Given the description of an element on the screen output the (x, y) to click on. 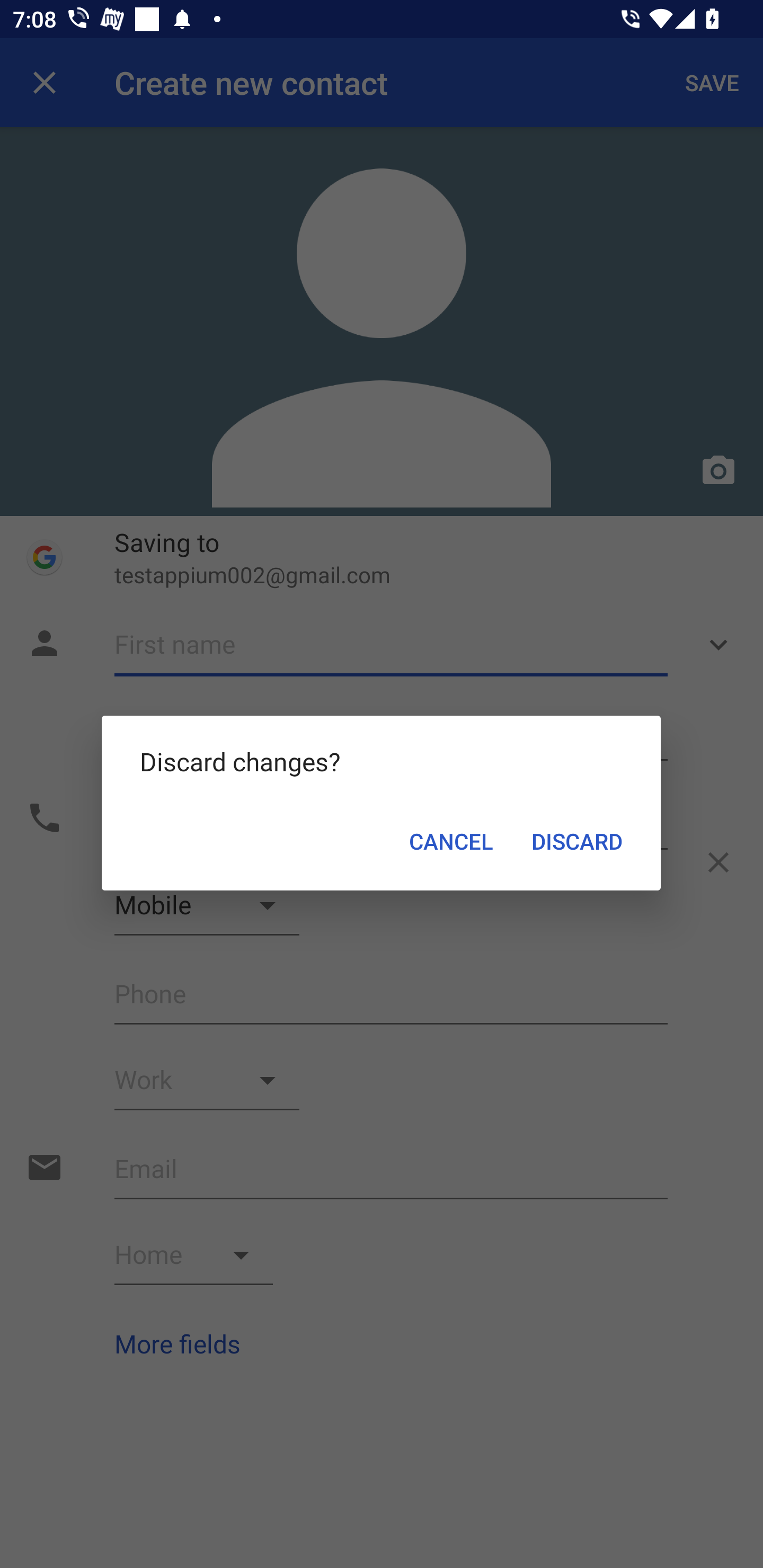
CANCEL (450, 841)
DISCARD (576, 841)
